Given the description of an element on the screen output the (x, y) to click on. 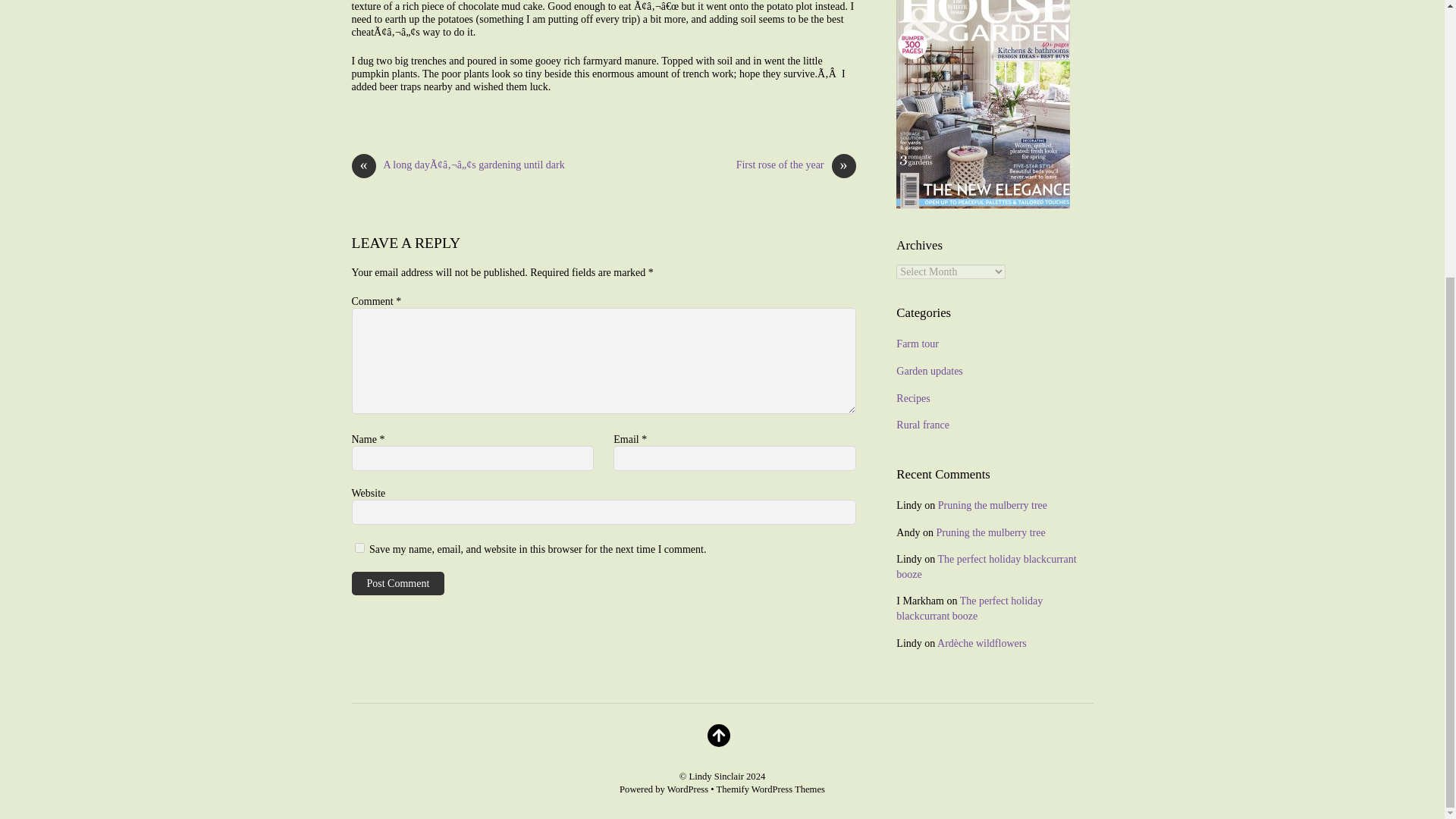
The perfect holiday blackcurrant booze (985, 566)
yes (360, 547)
Post Comment (398, 583)
Rural france (922, 424)
Lindy Sinclair (715, 776)
The perfect holiday blackcurrant booze (969, 608)
Pruning the mulberry tree (990, 532)
WordPress (686, 788)
Recipes (913, 398)
Garden updates (929, 370)
